Given the description of an element on the screen output the (x, y) to click on. 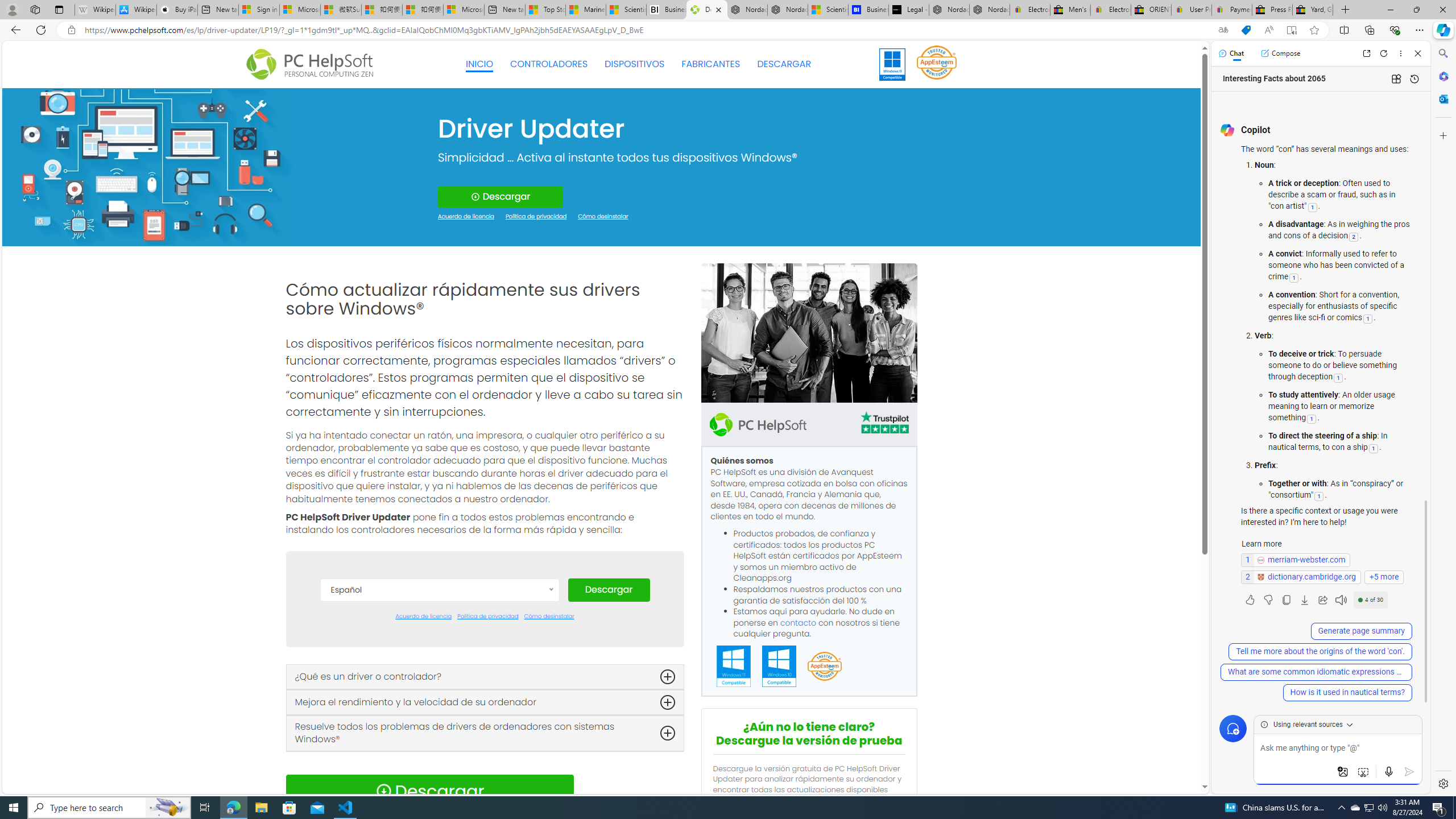
Download Icon (383, 791)
Deutsch (439, 678)
App Esteem (823, 666)
Descargar (608, 589)
User Privacy Notice | eBay (1191, 9)
FABRICANTES (711, 64)
Windows 11 (892, 64)
contacto (798, 622)
Show translate options (1222, 29)
FABRICANTES (711, 64)
